Given the description of an element on the screen output the (x, y) to click on. 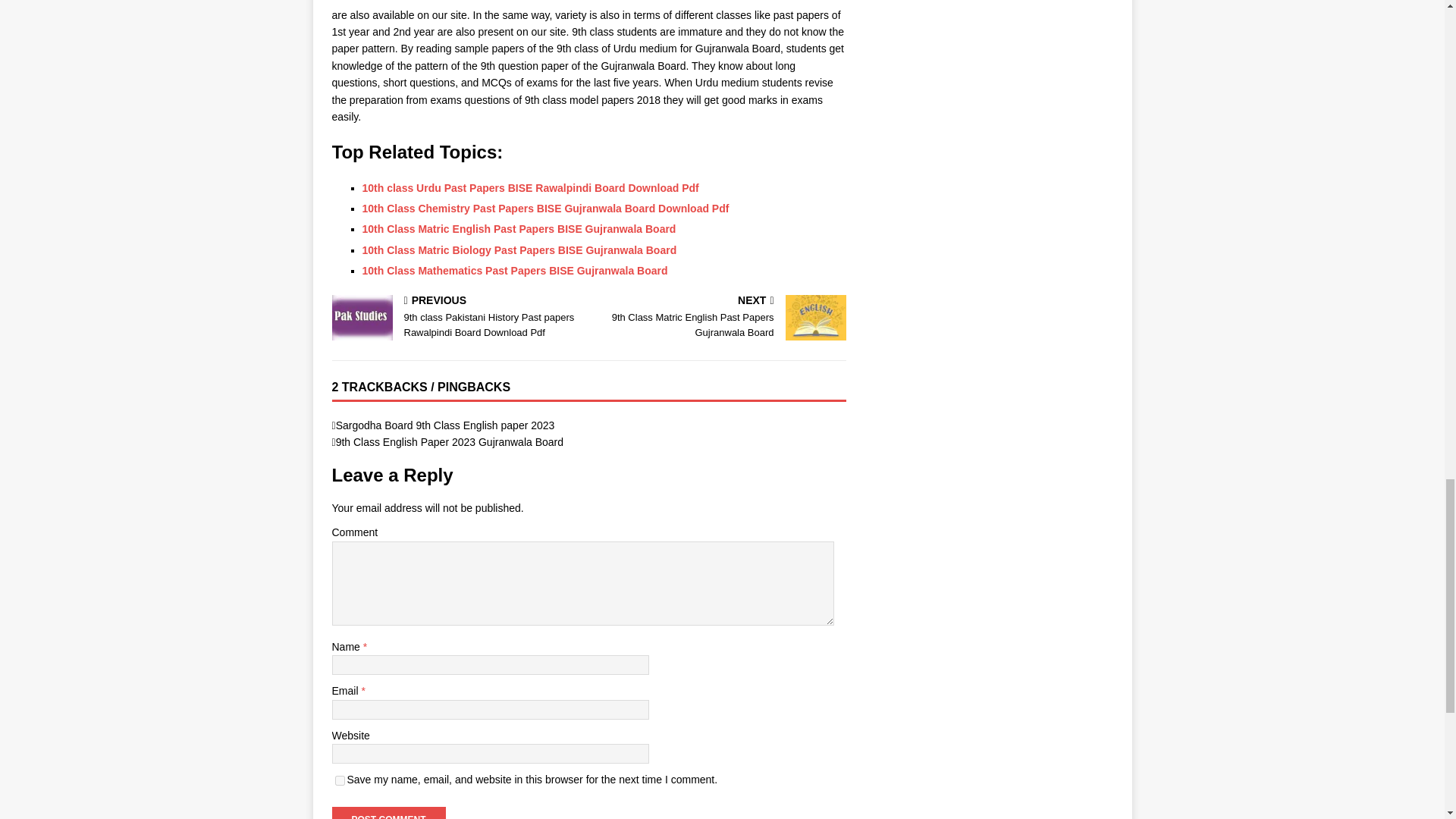
Post Comment (388, 812)
10th Class Mathematics Past Papers BISE Gujranwala Board (515, 270)
9th Class English Paper 2023 Gujranwala Board (720, 318)
10th Class Matric Biology Past Papers BISE Gujranwala Board (449, 441)
Sargodha Board 9th Class English paper 2023 (519, 250)
10th Class Matric English Past Papers BISE Gujranwala Board (445, 425)
